Given the description of an element on the screen output the (x, y) to click on. 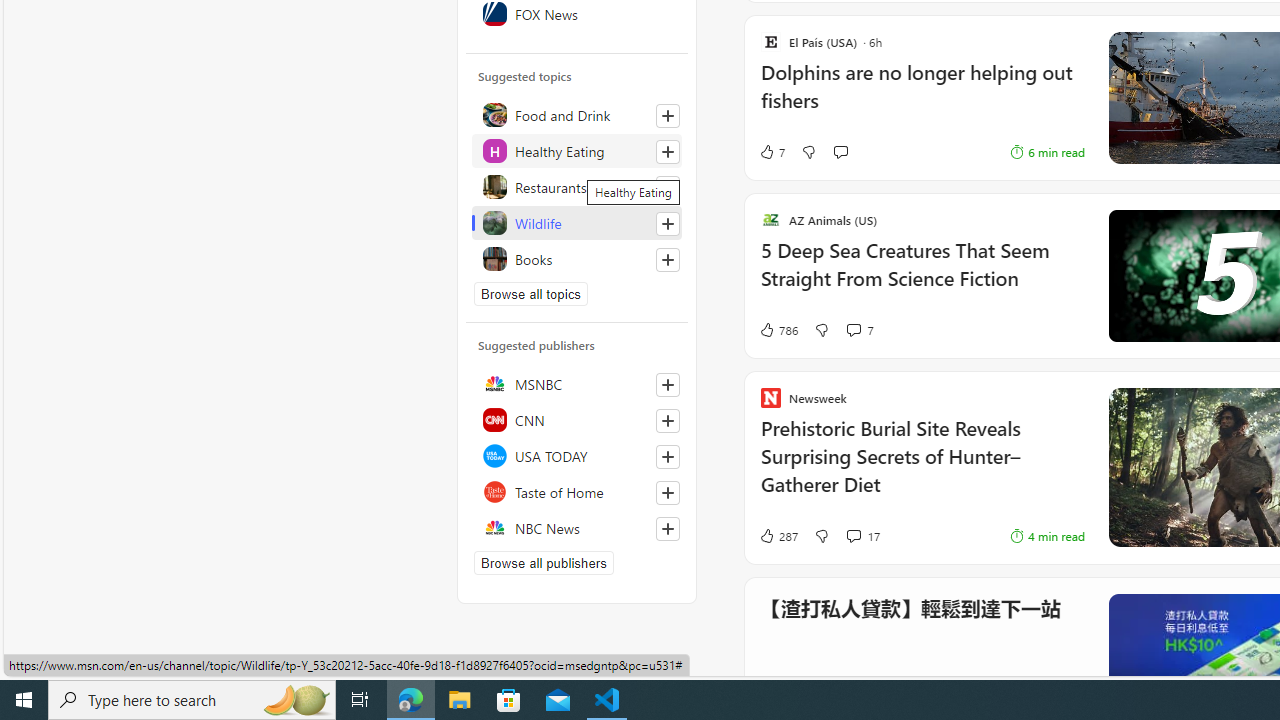
Taste of Home (577, 492)
